Given the description of an element on the screen output the (x, y) to click on. 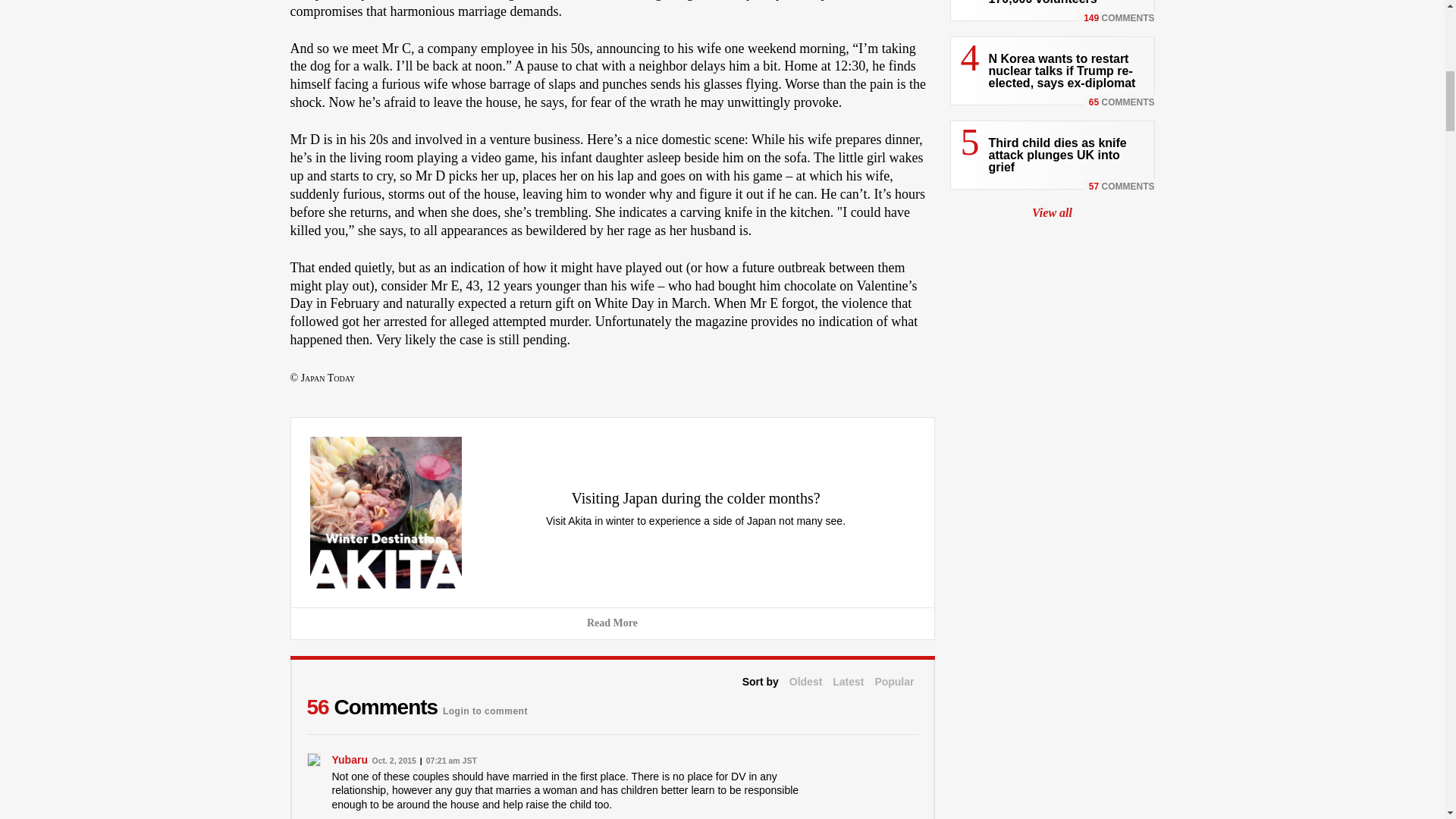
Latest (847, 681)
Third child dies as knife attack plunges UK into grief (1057, 154)
Oldest (805, 681)
Popularity (894, 681)
Login to comment (484, 707)
